Given the description of an element on the screen output the (x, y) to click on. 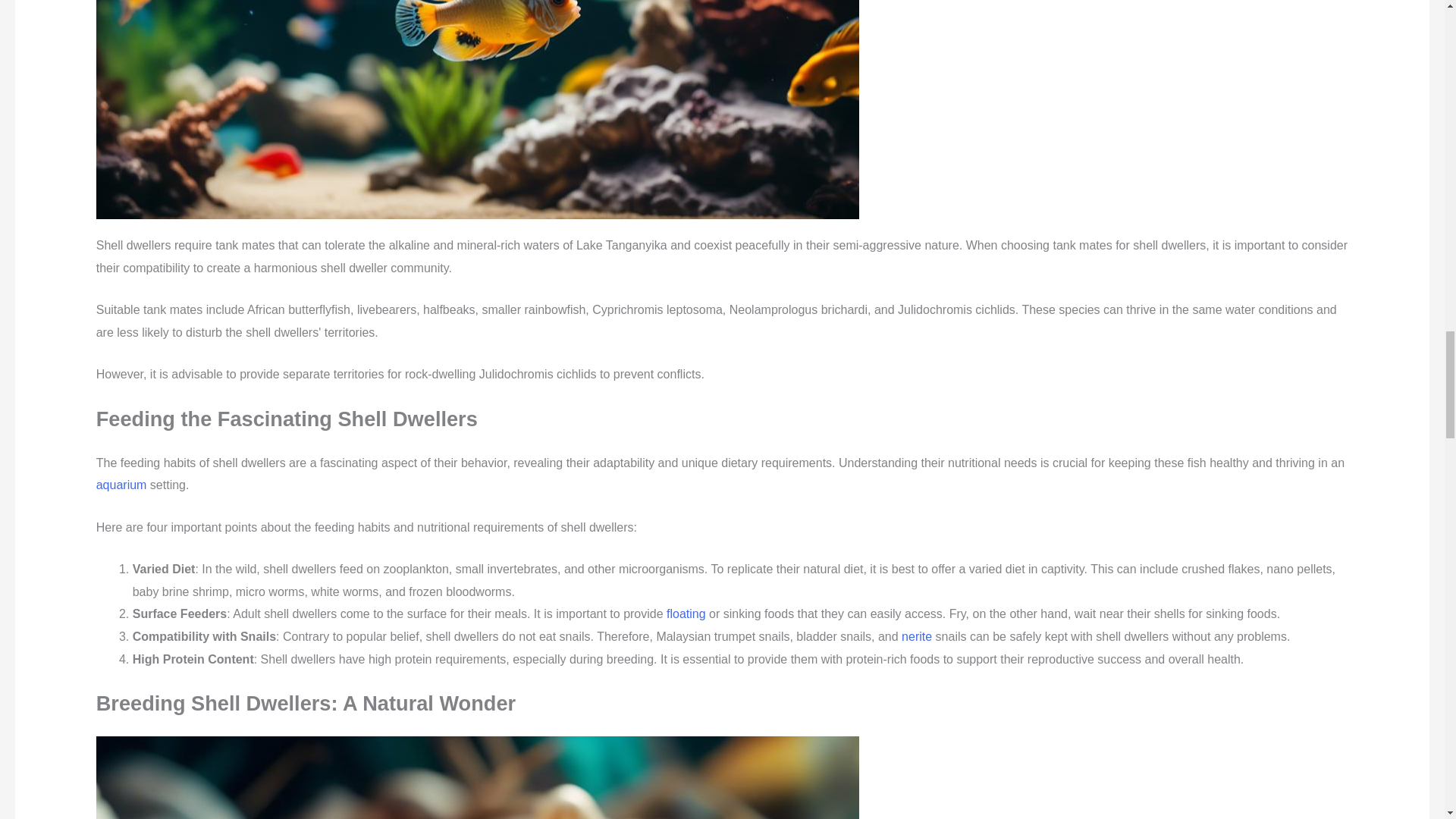
aquarium (121, 484)
floating (686, 613)
nerite (916, 635)
nerite (916, 635)
floating (686, 613)
aquarium (121, 484)
